Given the description of an element on the screen output the (x, y) to click on. 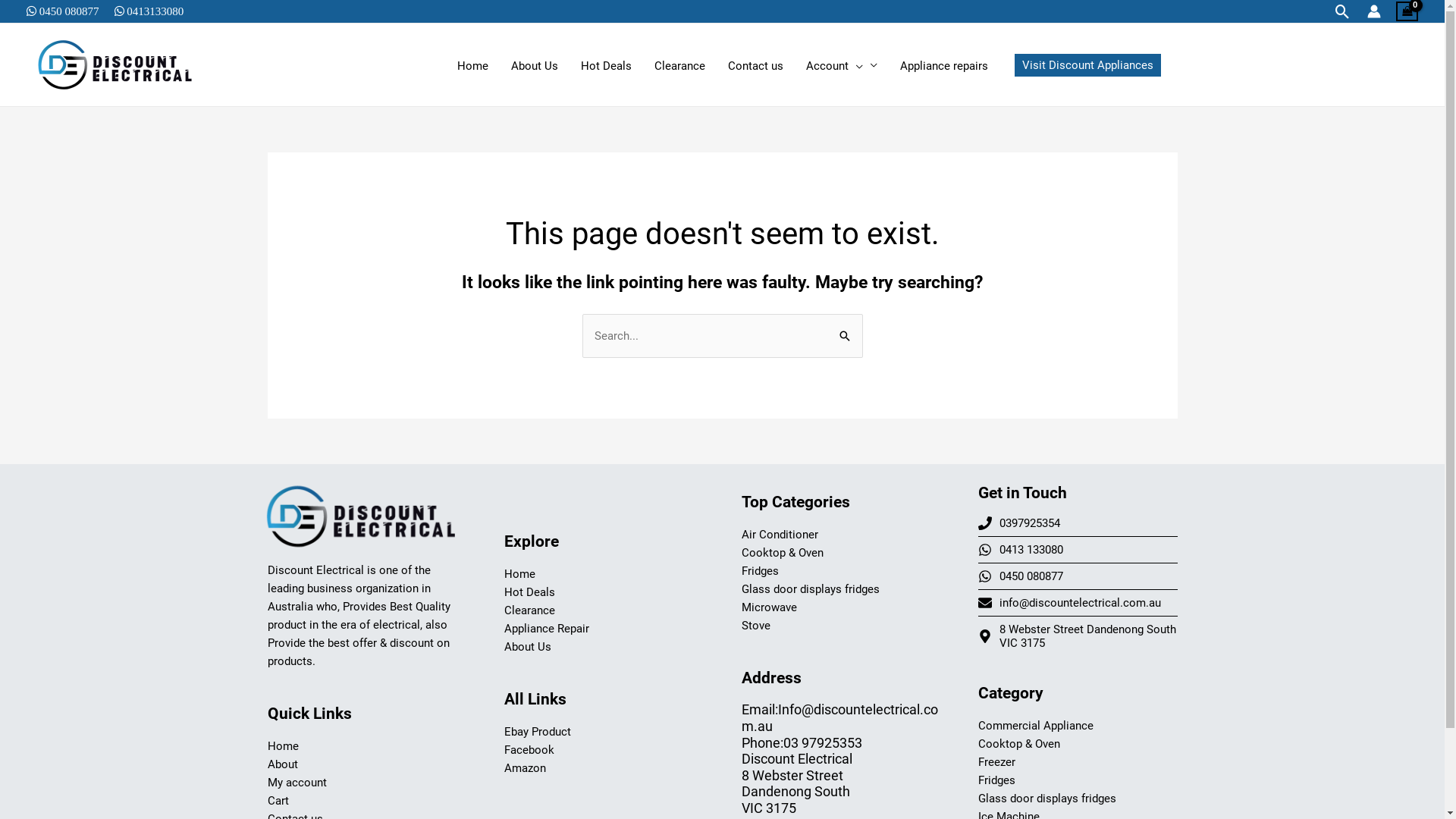
0397925354 Element type: text (1019, 523)
Search Element type: text (845, 333)
About Us Element type: text (527, 646)
Stove Element type: text (755, 625)
Home Element type: text (472, 65)
info@discountelectrical.com.au Element type: text (1069, 602)
0413133080 Element type: text (154, 10)
Glass door displays fridges Element type: text (810, 589)
Clearance Element type: text (679, 65)
Contact us Element type: text (754, 65)
Ebay Product Element type: text (537, 731)
Hot Deals Element type: text (529, 592)
Cooktop & Oven Element type: text (782, 552)
0450 080877 Element type: text (1020, 576)
0413 133080 Element type: text (1020, 549)
8 Webster Street Dandenong South VIC 3175 Element type: text (1077, 635)
Freezer Element type: text (996, 761)
0450 080877 Element type: text (67, 10)
Account Element type: text (841, 65)
Microwave Element type: text (769, 607)
Fridges Element type: text (996, 780)
Cooktop & Oven Element type: text (1019, 743)
Hot Deals Element type: text (605, 65)
Glass door displays fridges Element type: text (1047, 798)
Appliance repairs Element type: text (943, 65)
Amazon Element type: text (525, 768)
Air Conditioner Element type: text (779, 534)
Visit Discount Appliances Element type: text (1087, 64)
Commercial Appliance Element type: text (1035, 725)
Cart Element type: text (277, 800)
Search Element type: text (1342, 10)
About Element type: text (281, 764)
My account Element type: text (296, 782)
Fridges Element type: text (759, 570)
Home Element type: text (282, 746)
Facebook Element type: text (529, 749)
Home Element type: text (519, 573)
About Us Element type: text (533, 65)
Clearance Element type: text (529, 610)
